Given the description of an element on the screen output the (x, y) to click on. 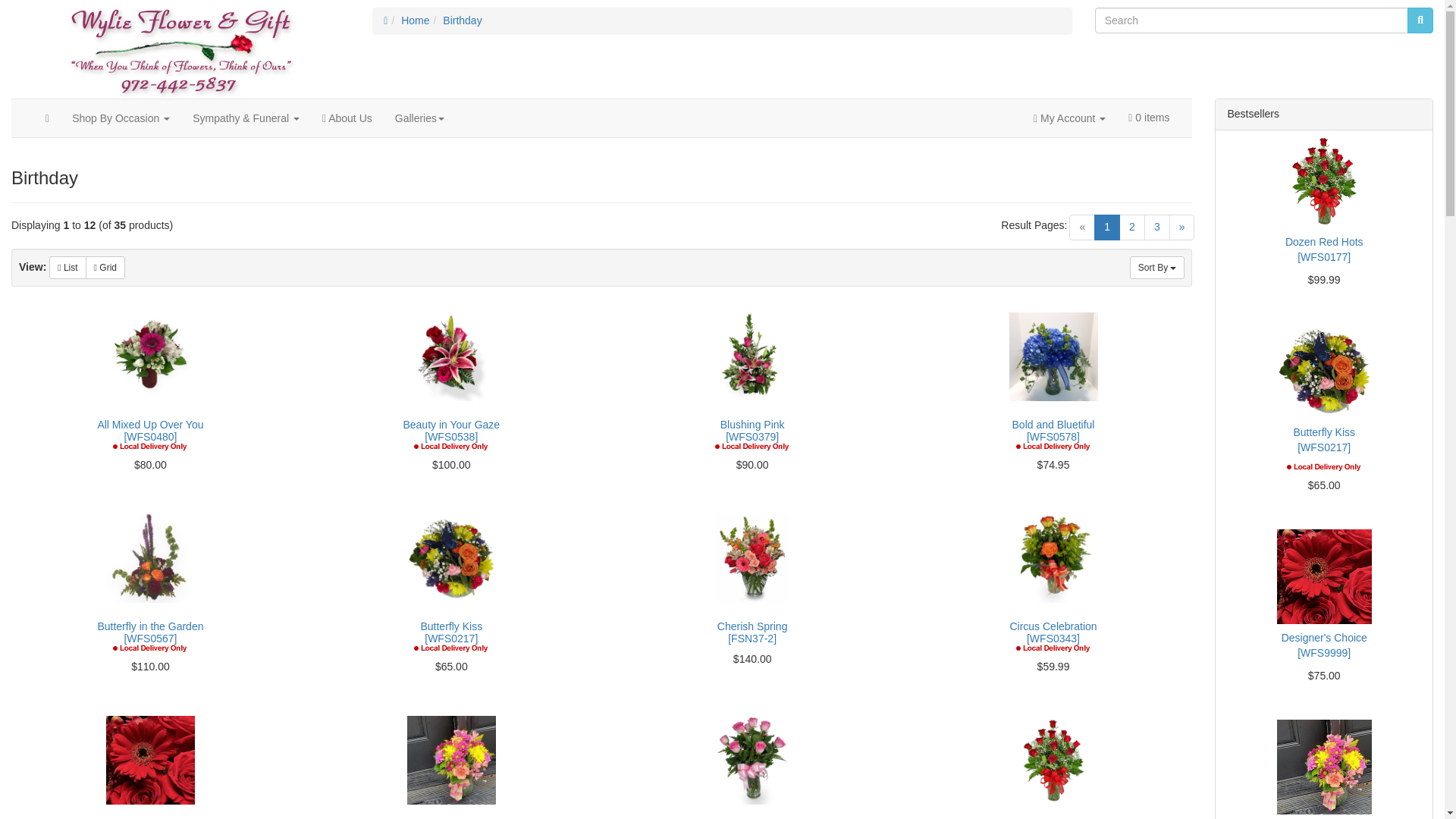
 Page 3  (1157, 227)
Blushing Pink (751, 356)
 Page 2  (1131, 227)
Butterfly Kiss (451, 558)
Beauty in Your Gaze (451, 356)
Birthday (461, 20)
 Next Page  (1182, 227)
 Page 1  (1106, 227)
Florist Garland (180, 49)
Bold and Bluetiful (1053, 356)
All Mixed Up Over You (150, 356)
Home (415, 20)
Butterfly in the Garden (150, 558)
Shop By Occasion (120, 118)
